Given the description of an element on the screen output the (x, y) to click on. 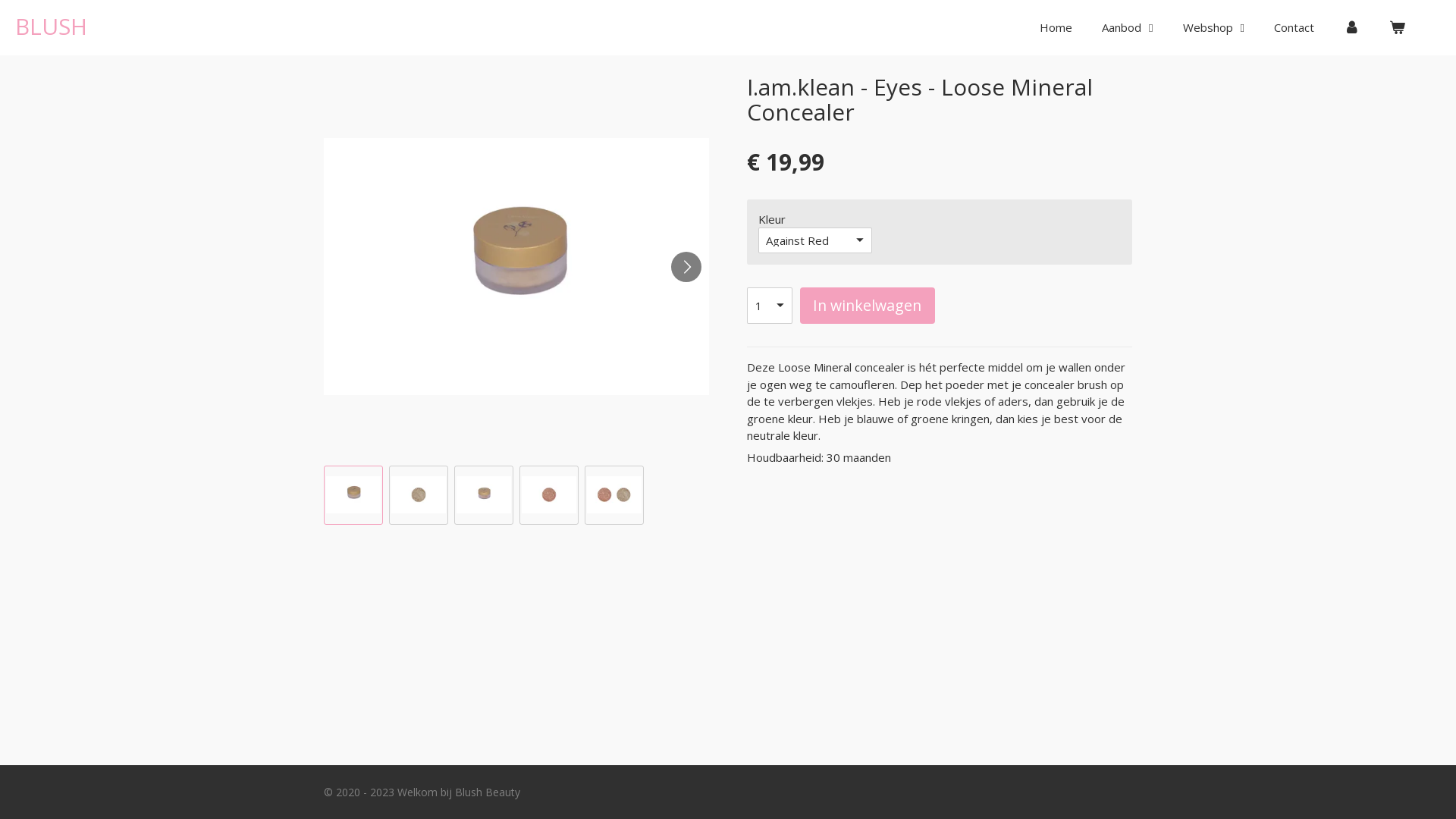
Contact Element type: text (1293, 27)
In winkelwagen Element type: text (867, 304)
Aanbod Element type: text (1126, 27)
Home Element type: text (1055, 27)
Webshop Element type: text (1213, 27)
Account Element type: hover (1351, 27)
BLUSH Element type: text (51, 25)
Bekijk winkelwagen Element type: hover (1397, 27)
